Given the description of an element on the screen output the (x, y) to click on. 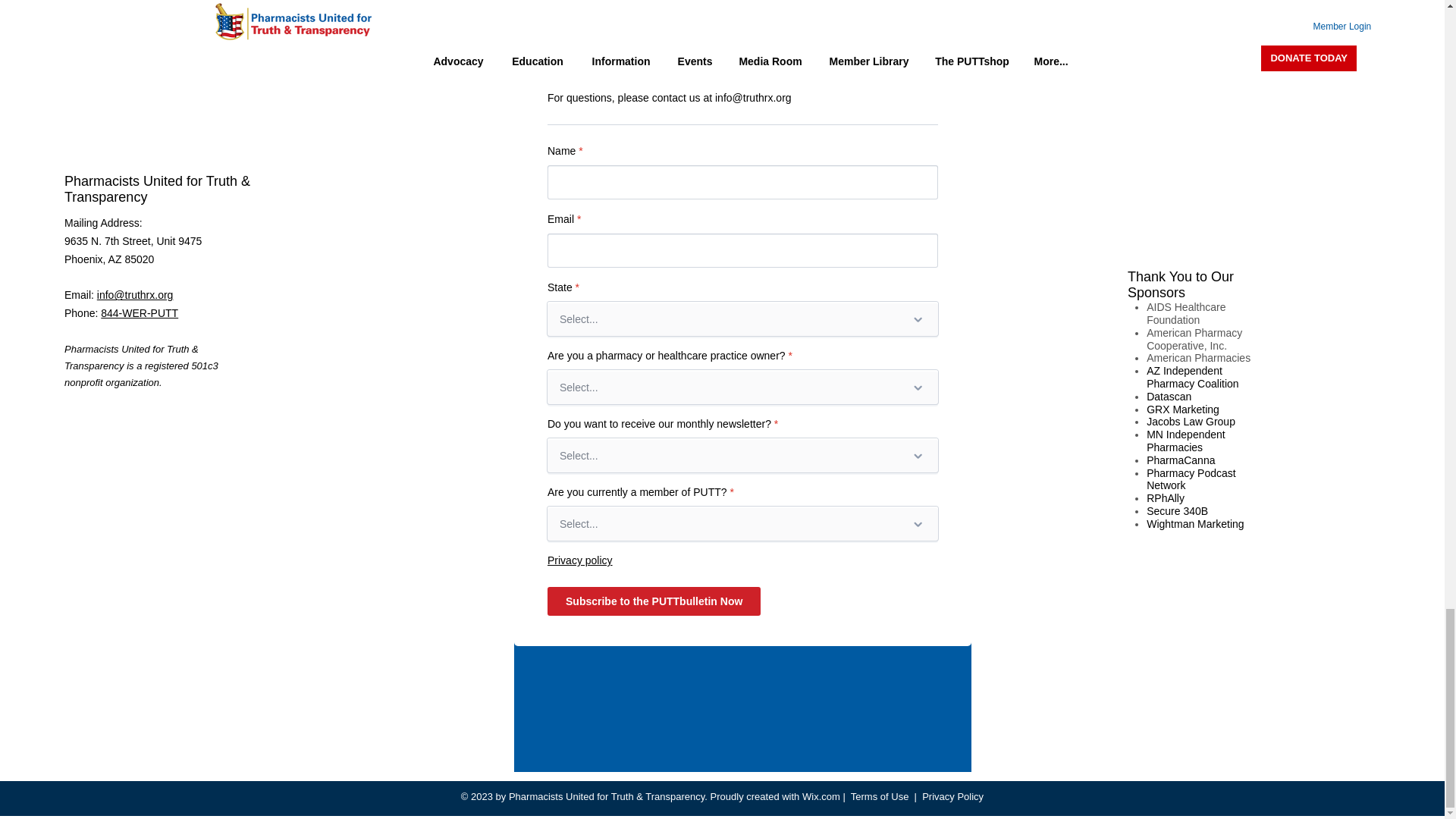
PUTT Social Media Policy (125, 81)
Support Reform (101, 26)
Information (90, 2)
PUTT Privacy Policy (112, 53)
844-WER-PUTT (138, 313)
